Given the description of an element on the screen output the (x, y) to click on. 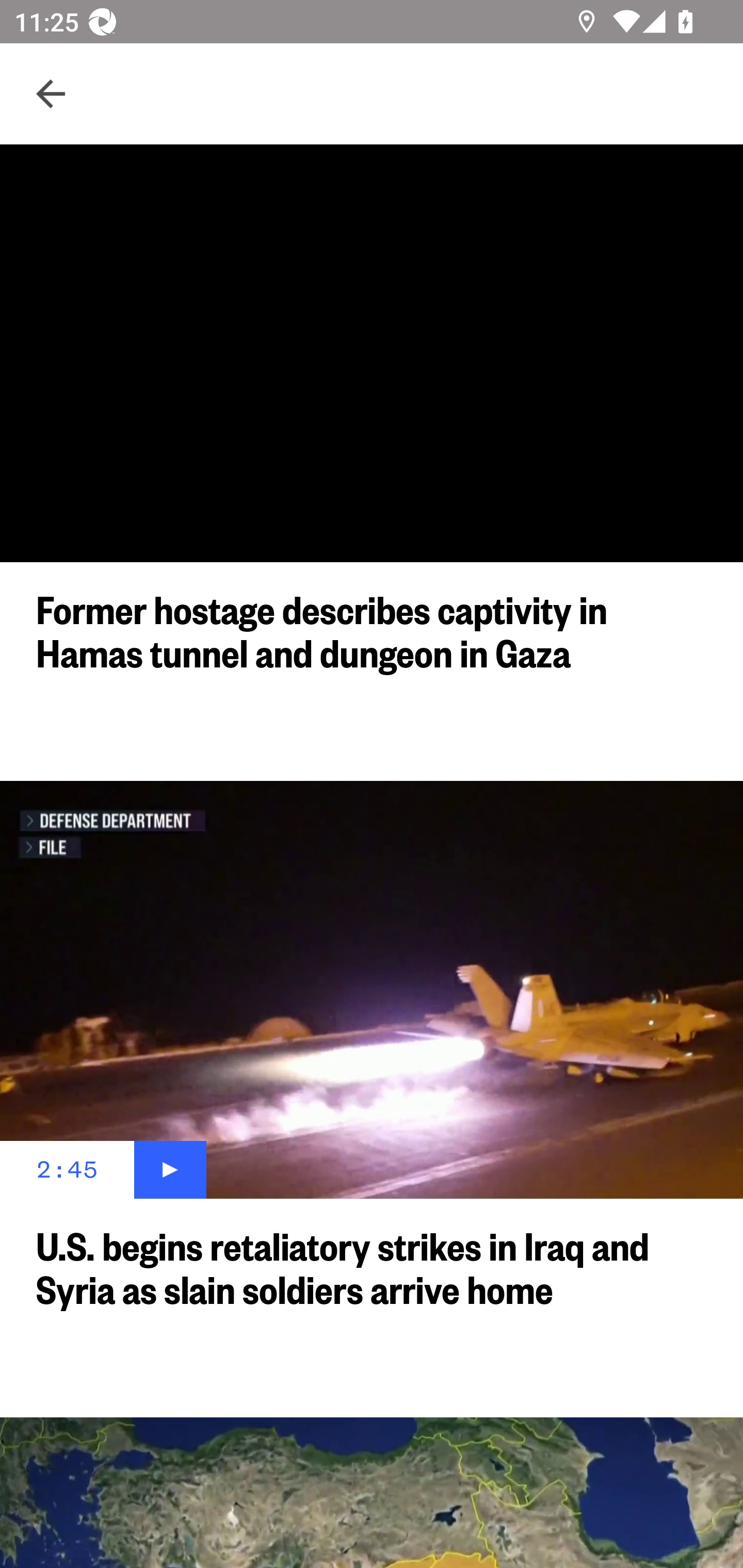
Navigate up (50, 93)
